Given the description of an element on the screen output the (x, y) to click on. 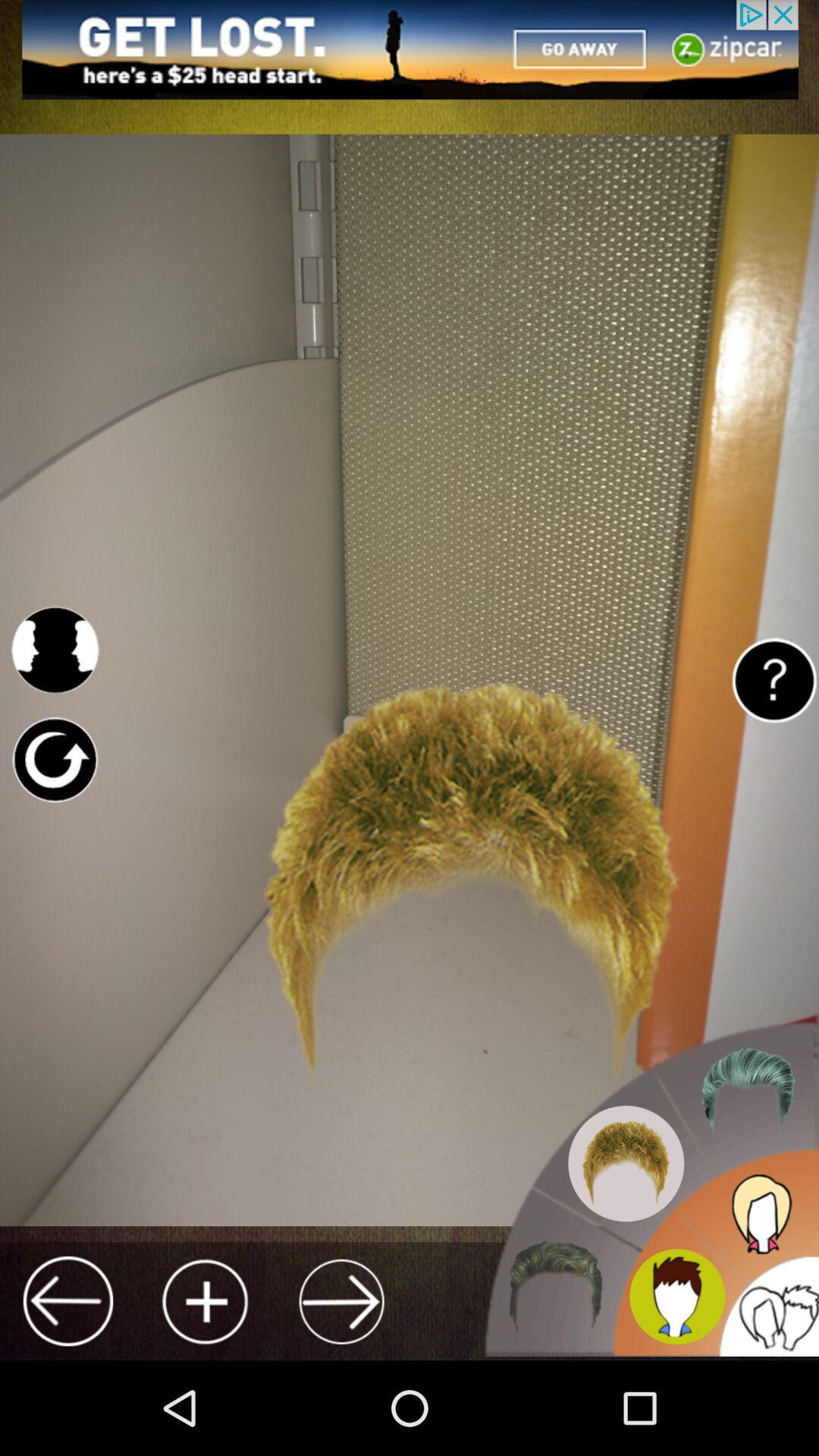
view the adversitement (409, 49)
